Given the description of an element on the screen output the (x, y) to click on. 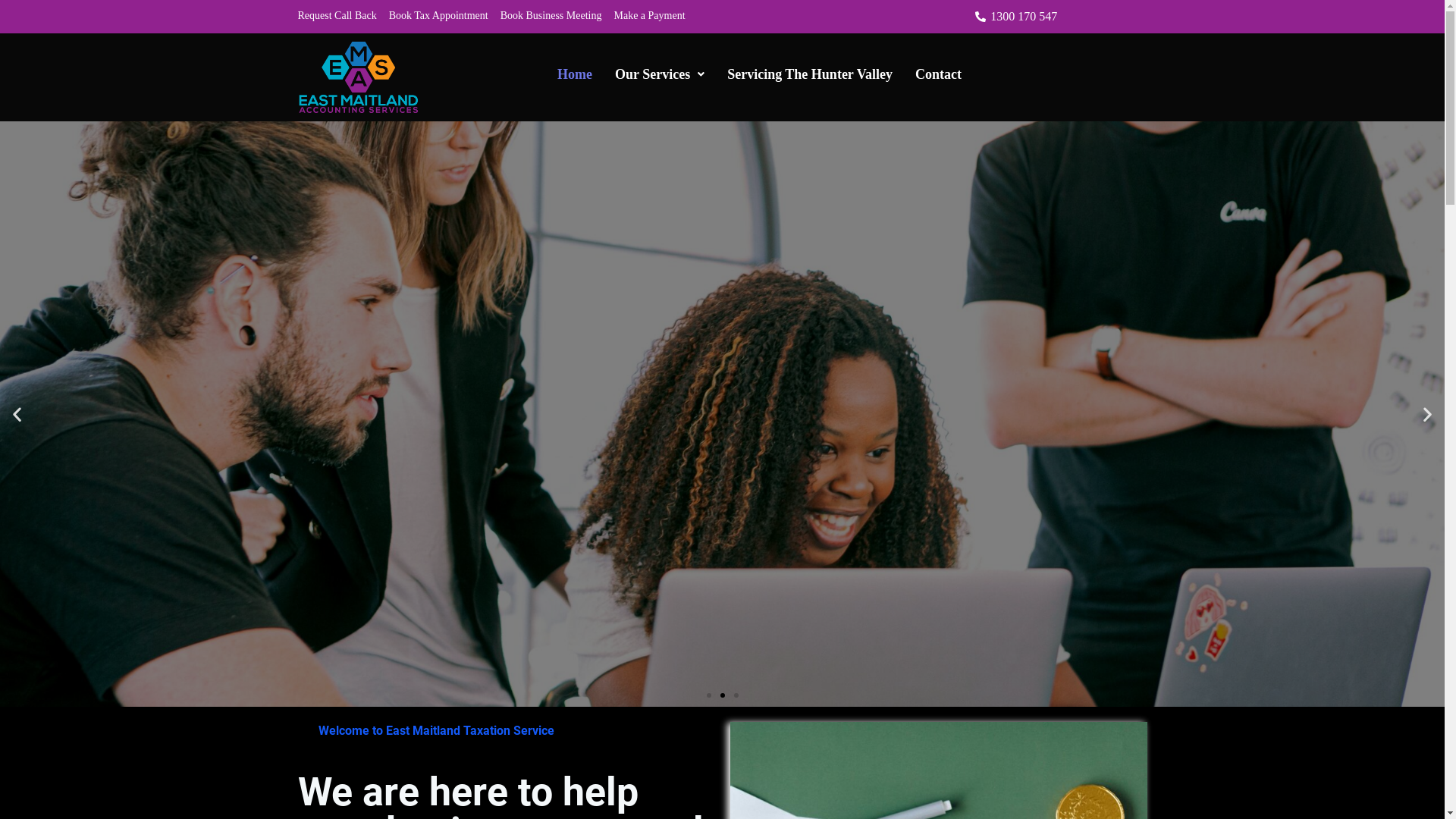
Our Services Element type: text (659, 74)
Servicing The Hunter Valley Element type: text (809, 74)
Contact Element type: text (937, 74)
Home Element type: text (574, 74)
Request Call Back Element type: text (336, 15)
Book Tax Appointment Element type: text (438, 15)
Make a Payment Element type: text (648, 15)
Book Business Meeting Element type: text (551, 15)
